Given the description of an element on the screen output the (x, y) to click on. 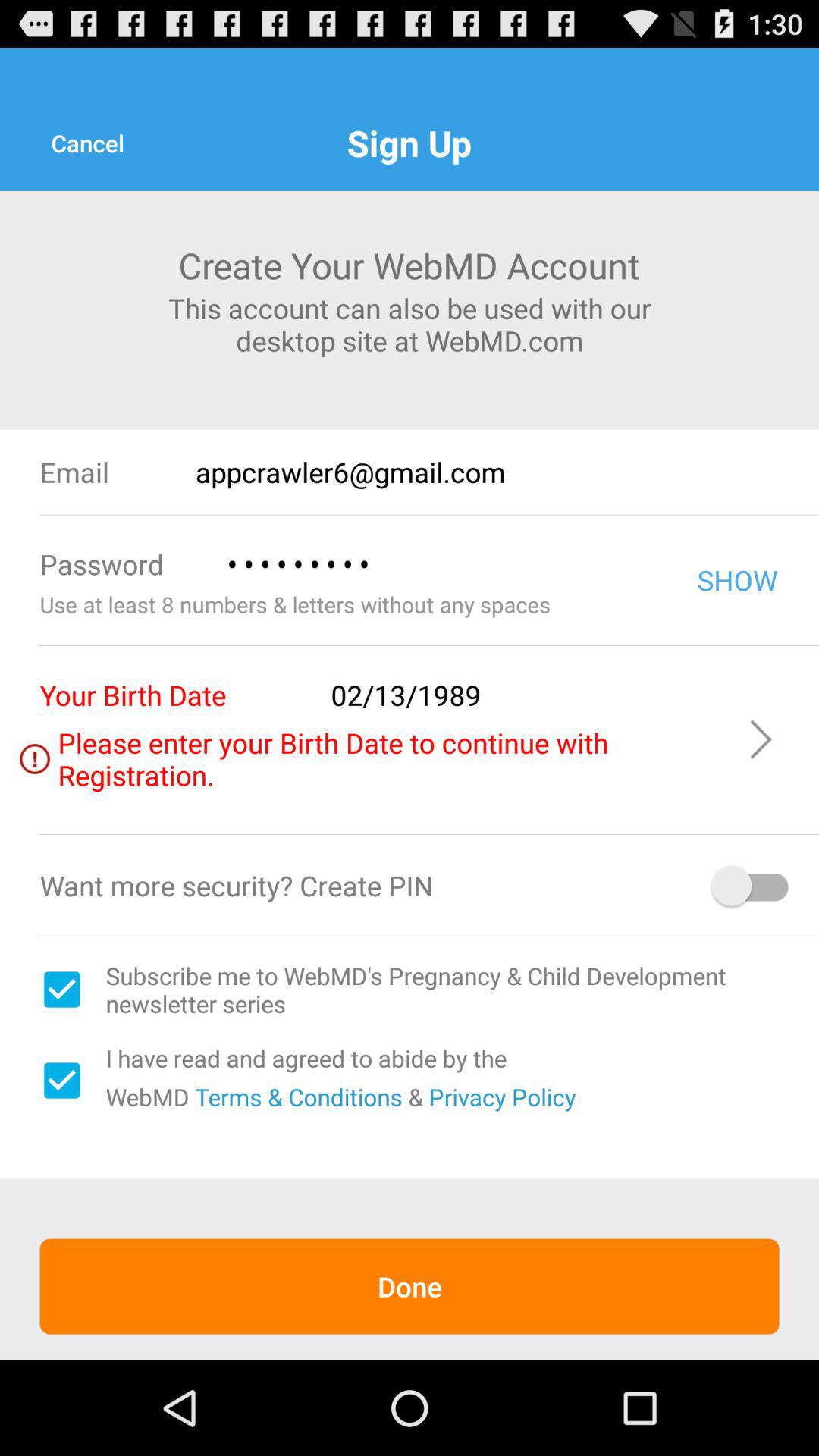
activate pin (751, 885)
